Given the description of an element on the screen output the (x, y) to click on. 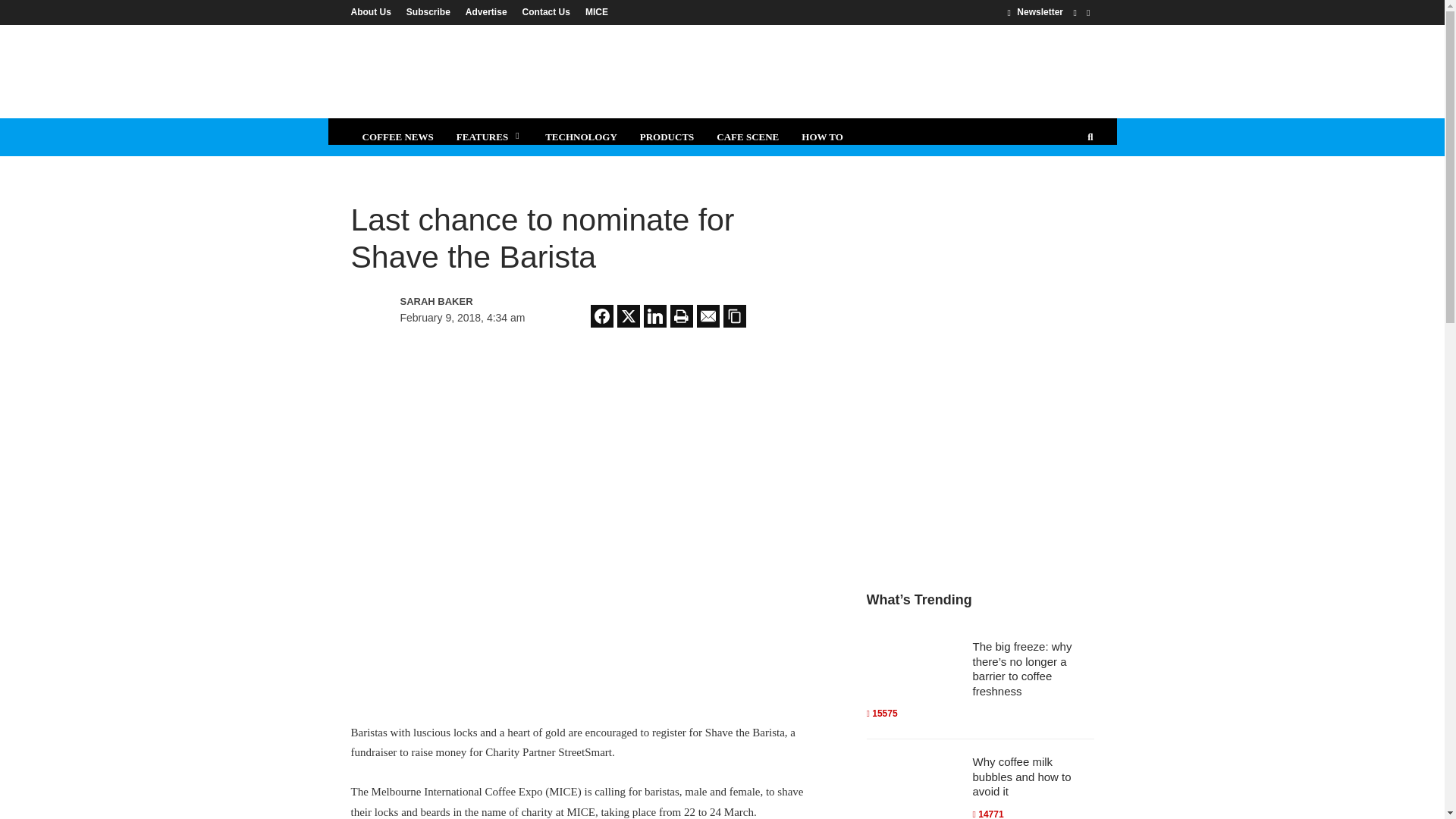
HOW TO (822, 136)
Share on Print (681, 315)
Newsletter (1034, 11)
View all posts by Sarah Baker (465, 301)
PRODUCTS (667, 136)
CAFE SCENE (747, 136)
About Us (373, 11)
Share on Facebook (601, 315)
Share on Twitter (628, 315)
Advertise (486, 11)
